Given the description of an element on the screen output the (x, y) to click on. 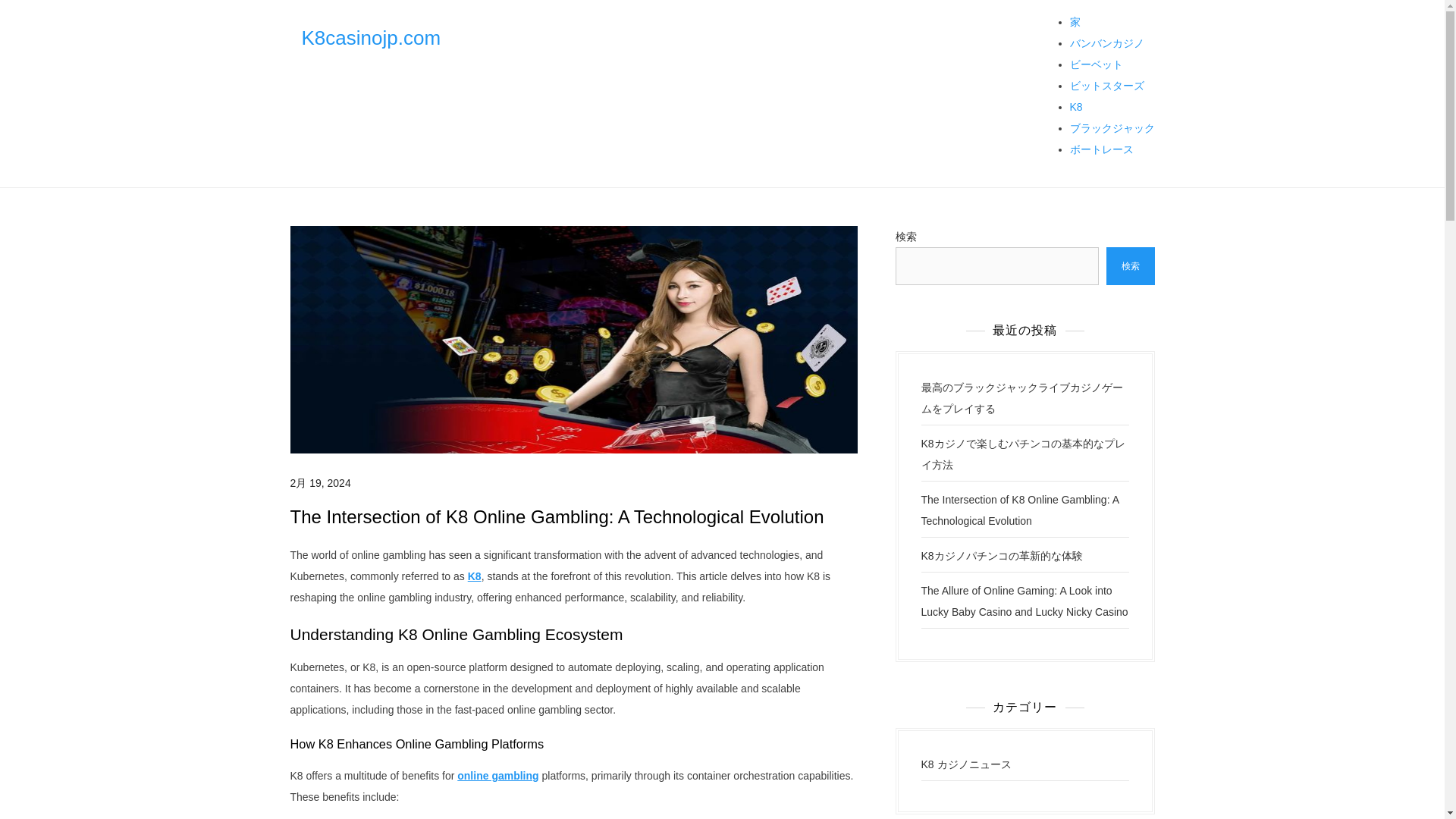
K8casinojp.com (371, 37)
K8 (474, 576)
online gambling (497, 775)
K8 (1074, 106)
